Given the description of an element on the screen output the (x, y) to click on. 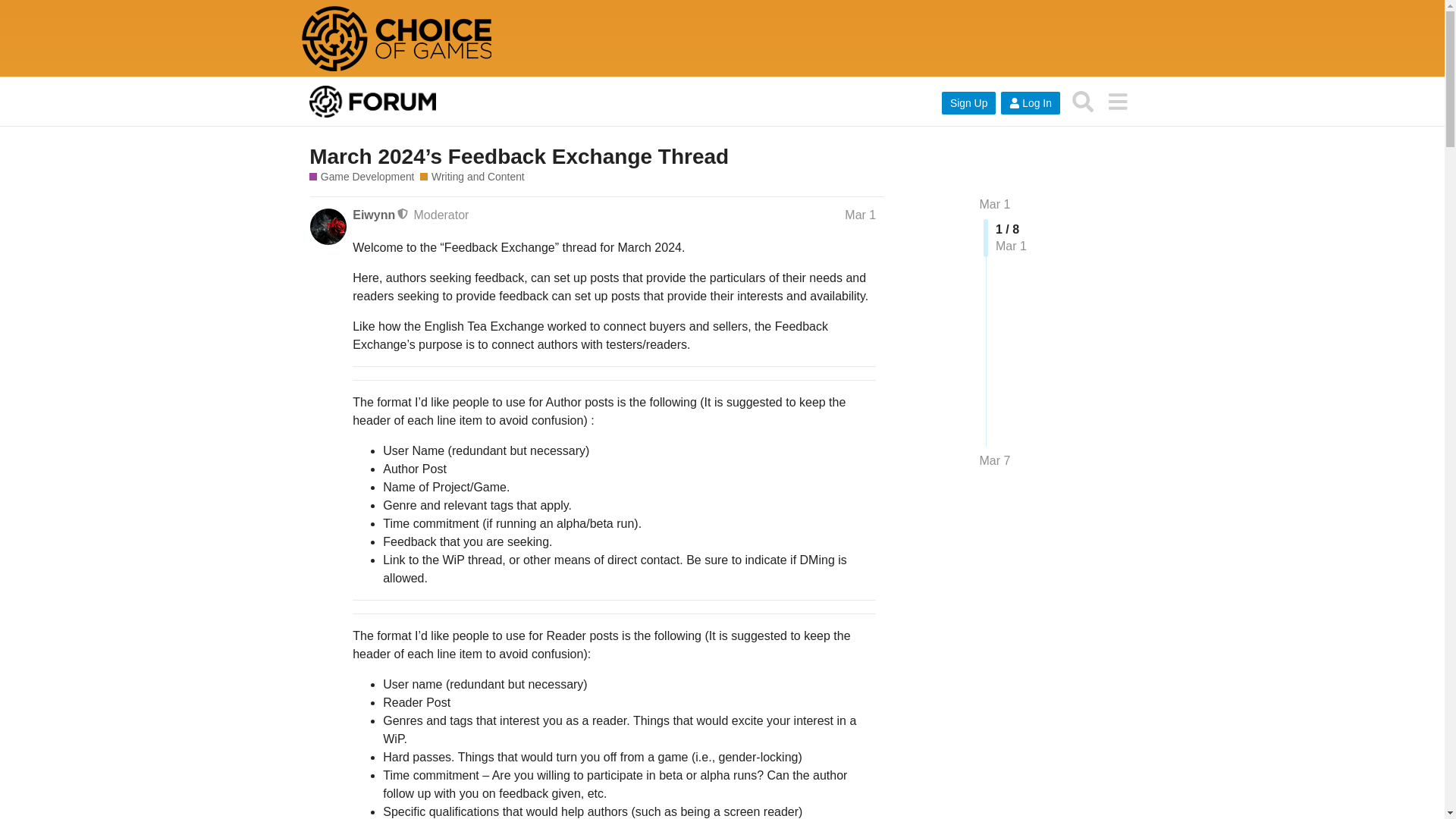
Jump to the first post (994, 204)
Mar 1 (994, 204)
Eiwynn (373, 215)
Sign Up (968, 102)
Log In (1030, 102)
Post date (860, 214)
Search (1082, 100)
Mar 7 (994, 460)
Game Development (360, 176)
Jump to the last post (994, 460)
Mar 1 (860, 214)
menu (1117, 100)
This user is a moderator (403, 214)
Writing and Content (472, 176)
